Given the description of an element on the screen output the (x, y) to click on. 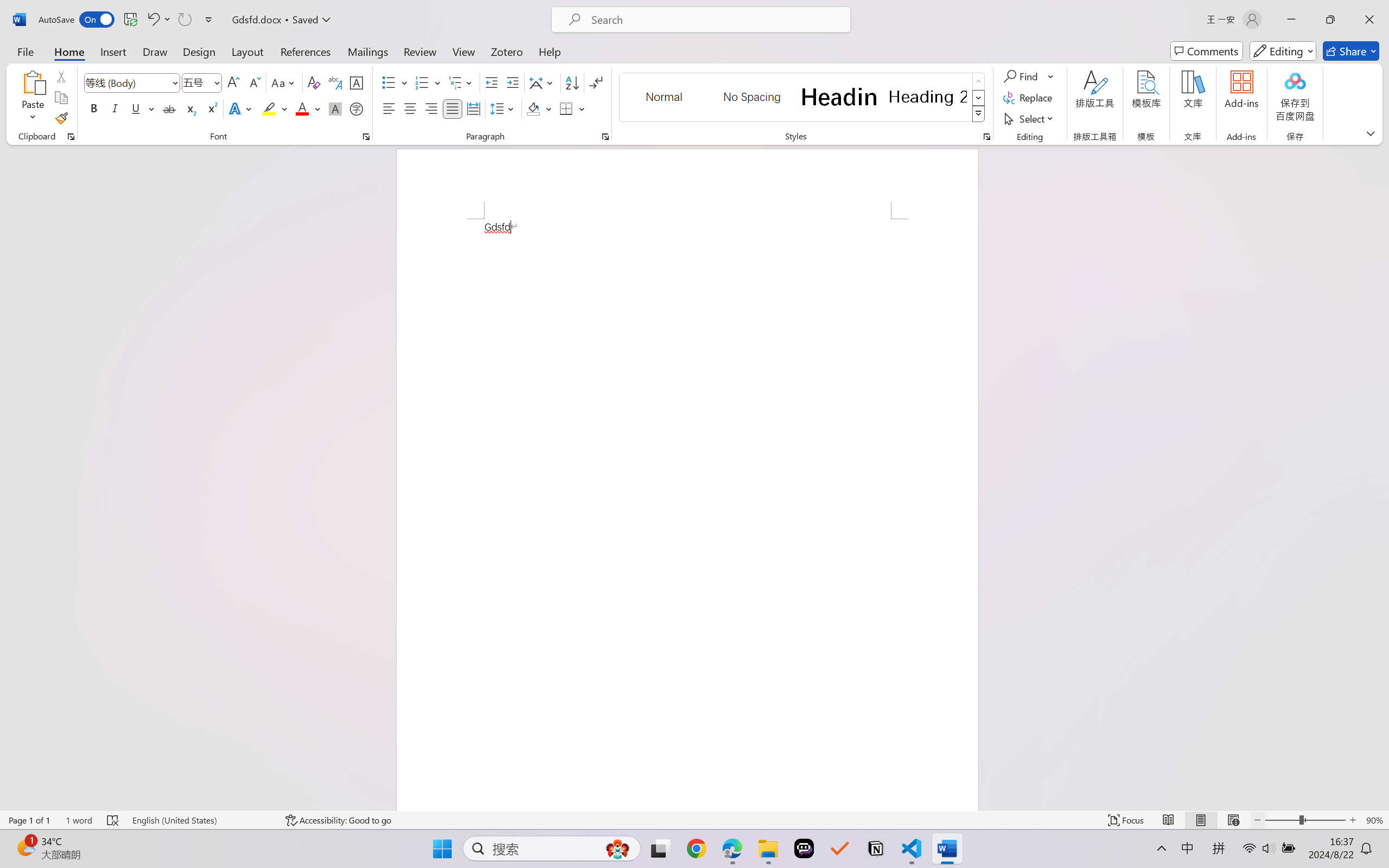
Increase Indent (512, 82)
Change Case (284, 82)
Row Down (978, 97)
Class: MsoCommandBar (694, 819)
Office Clipboard... (70, 136)
Undo Style (158, 19)
AutomationID: QuickStylesGallery (802, 97)
